Given the description of an element on the screen output the (x, y) to click on. 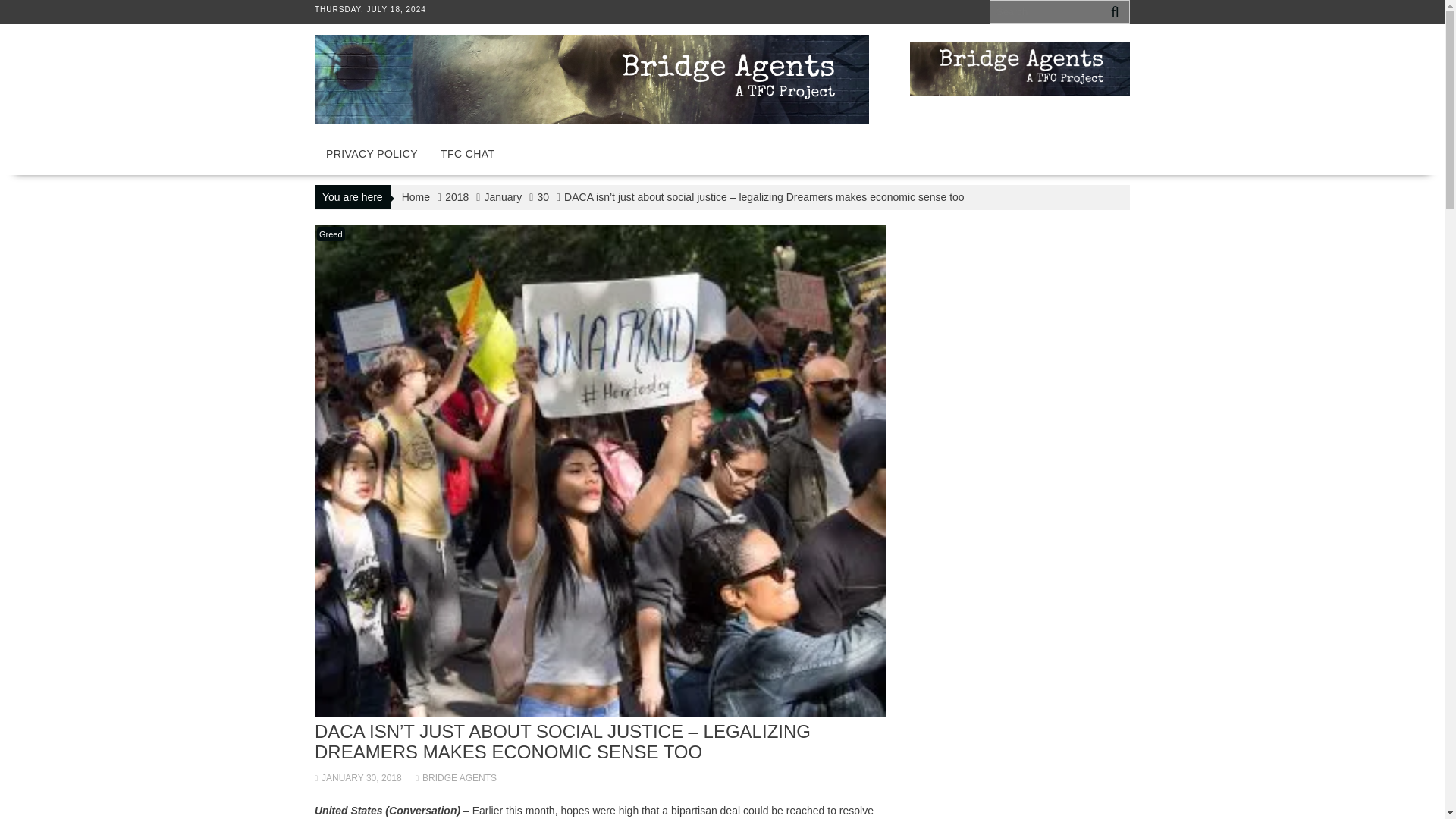
30 (542, 196)
Conversation (422, 810)
Greed (331, 233)
January (502, 196)
2018 (456, 196)
BRIDGE AGENTS (455, 777)
TFC CHAT (467, 153)
hopes were high (599, 810)
JANUARY 30, 2018 (357, 777)
PRIVACY POLICY (371, 153)
Home (415, 196)
